Given the description of an element on the screen output the (x, y) to click on. 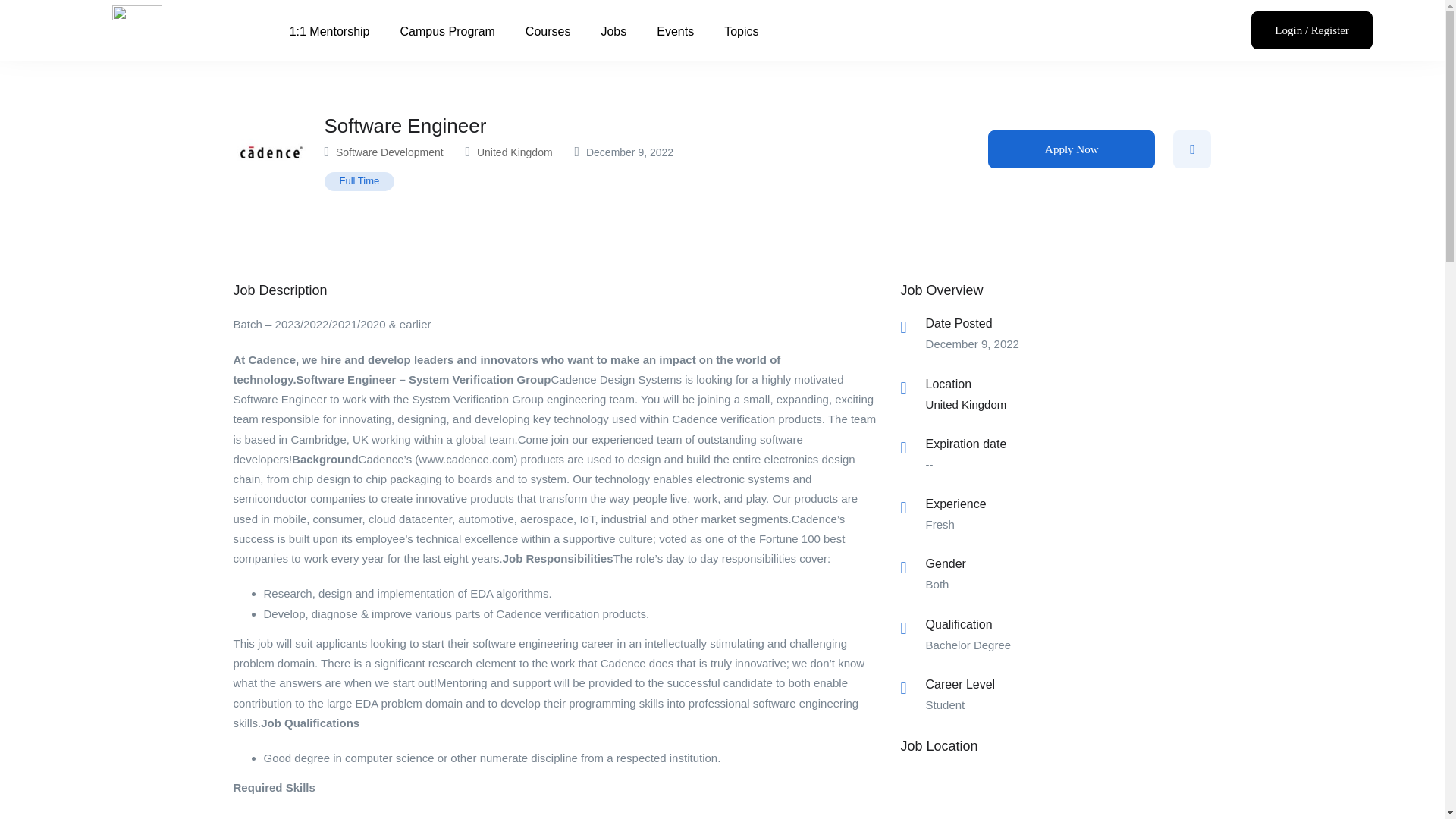
Campus Program (446, 31)
Courses (548, 31)
Topics (741, 31)
1:1 Mentorship (330, 31)
Jobs (613, 31)
Events (675, 31)
